Given the description of an element on the screen output the (x, y) to click on. 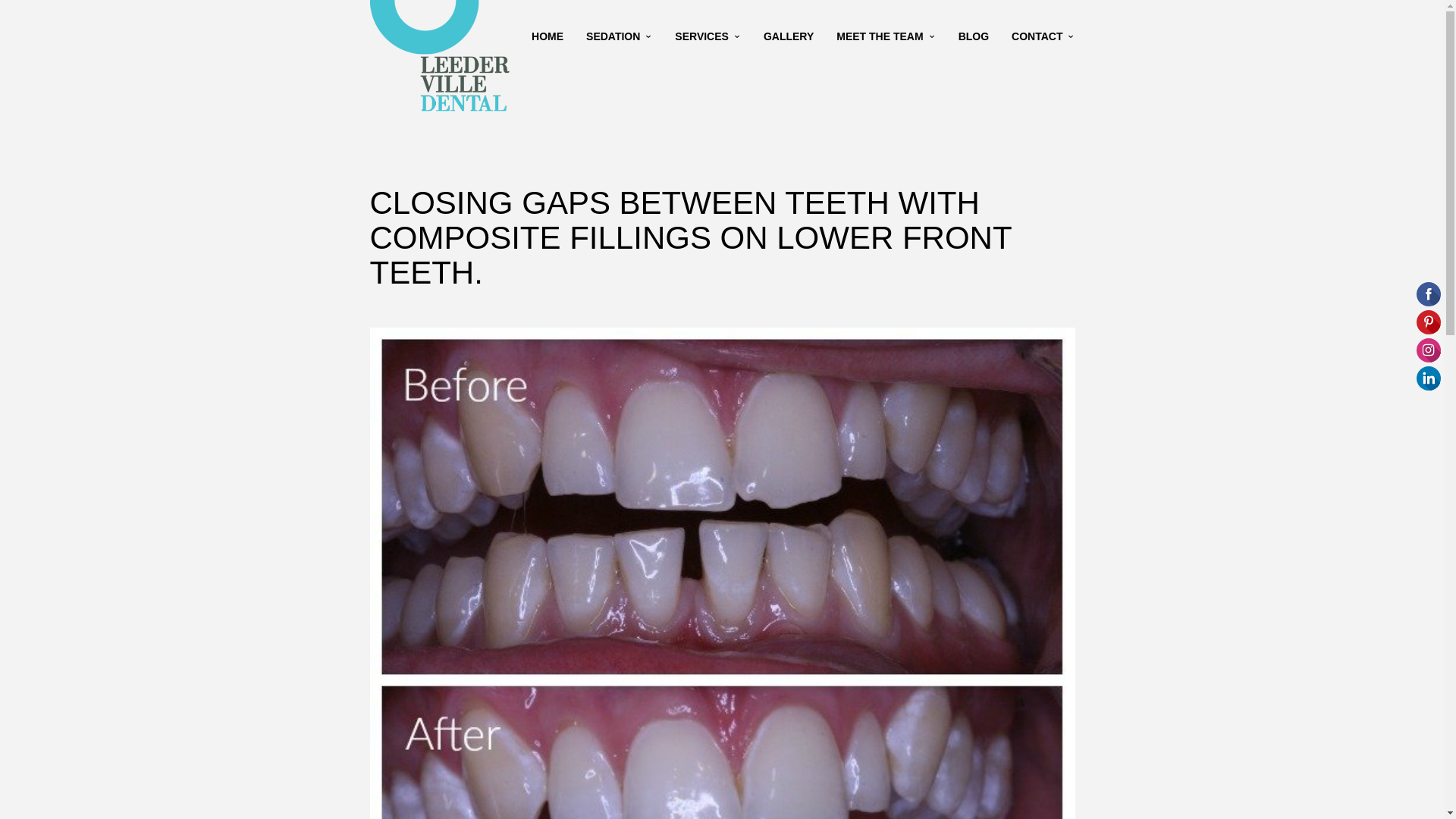
GALLERY Element type: text (788, 36)
MEET THE TEAM Element type: text (885, 36)
SEDATION Element type: text (619, 36)
CONTACT Element type: text (1042, 36)
BLOG Element type: text (973, 36)
SERVICES Element type: text (707, 36)
HOME Element type: text (547, 36)
